Given the description of an element on the screen output the (x, y) to click on. 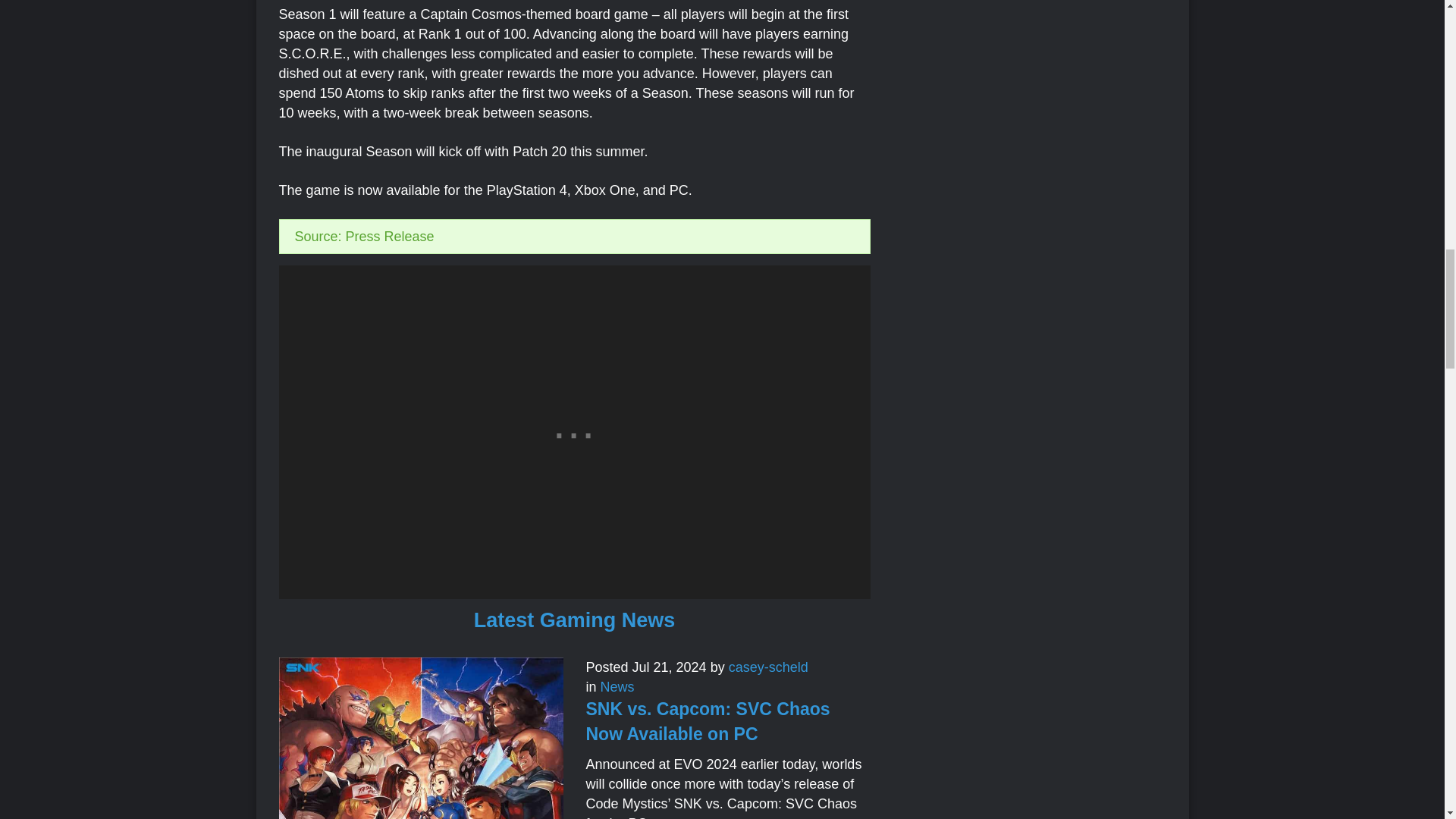
casey-scheld (768, 667)
Latest Gaming News (574, 620)
News (616, 686)
